Given the description of an element on the screen output the (x, y) to click on. 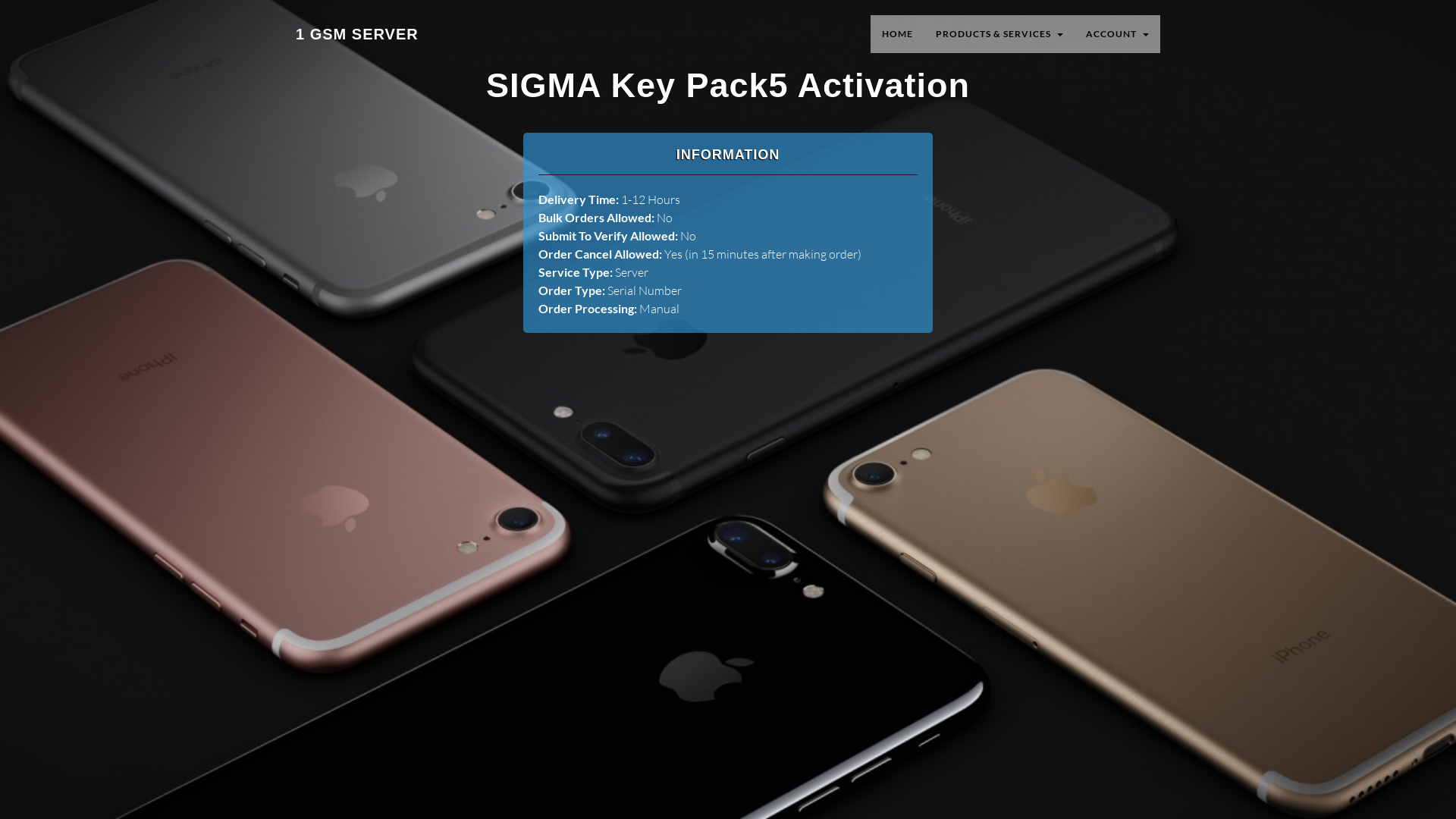
HOME Element type: text (897, 34)
PRODUCTS & SERVICES   Element type: text (999, 34)
ACCOUNT   Element type: text (1117, 34)
1 GSM SERVER Element type: text (356, 34)
